Given the description of an element on the screen output the (x, y) to click on. 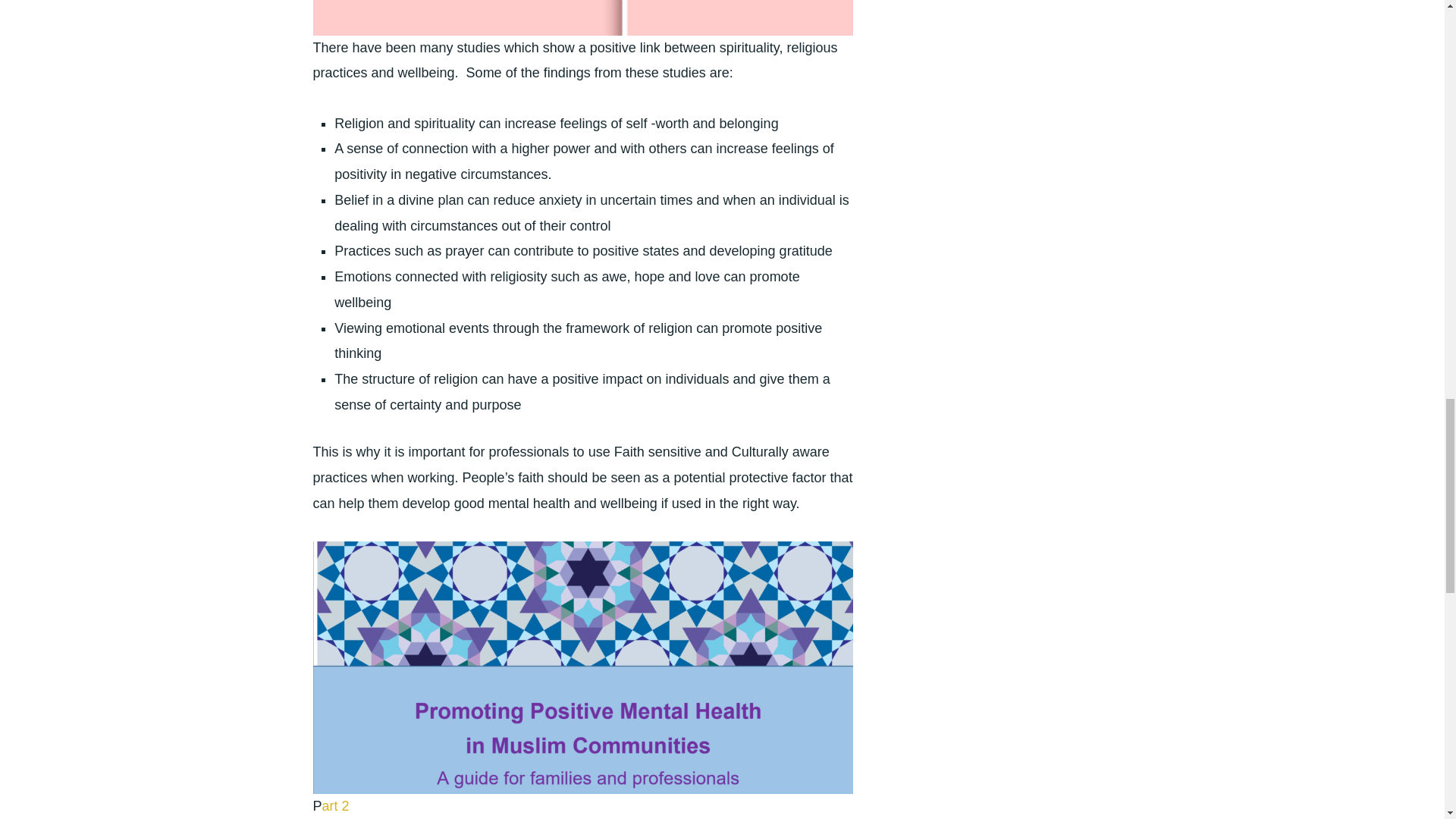
art 2 (335, 806)
